Given the description of an element on the screen output the (x, y) to click on. 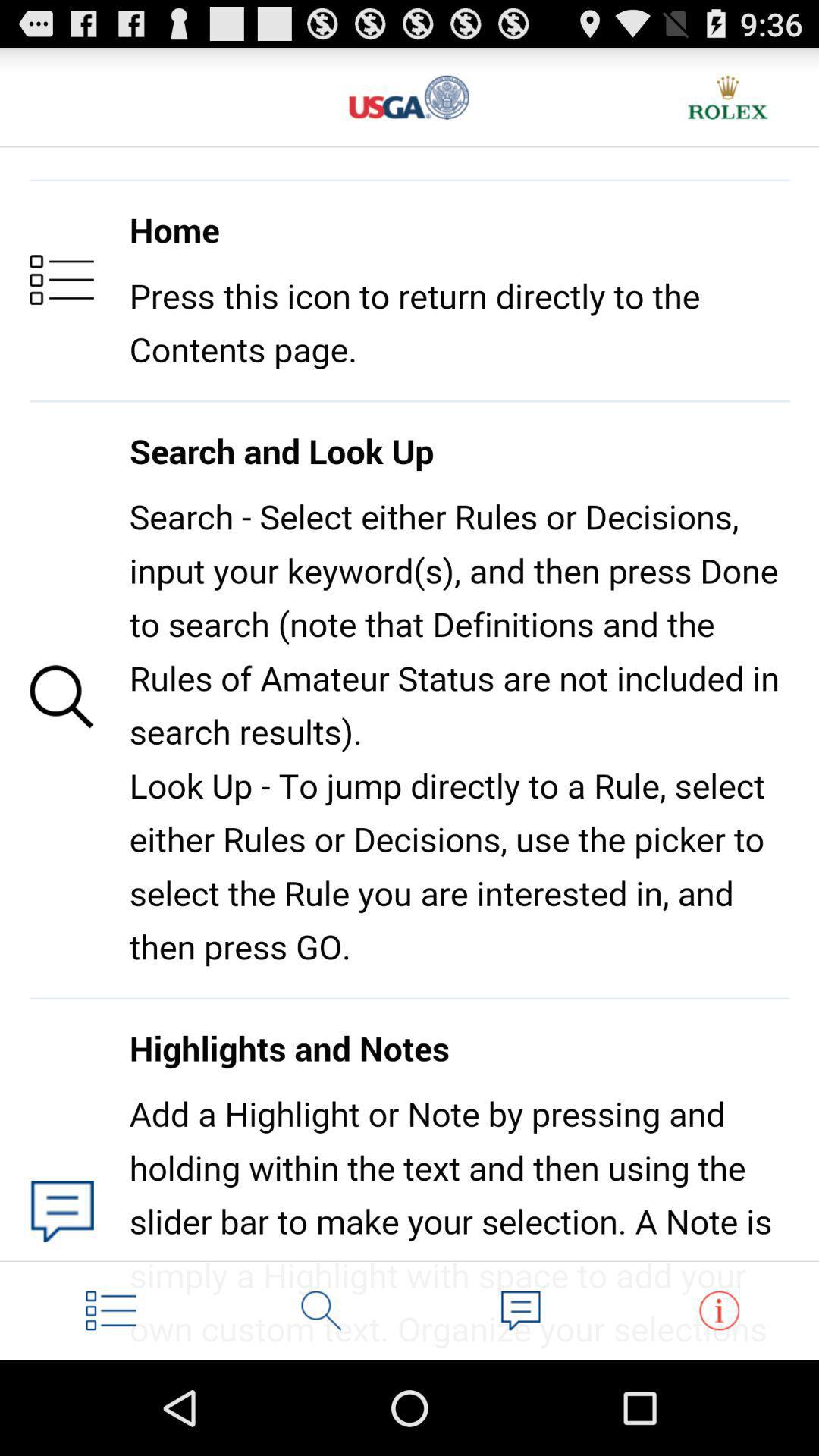
return to main page (409, 97)
